Given the description of an element on the screen output the (x, y) to click on. 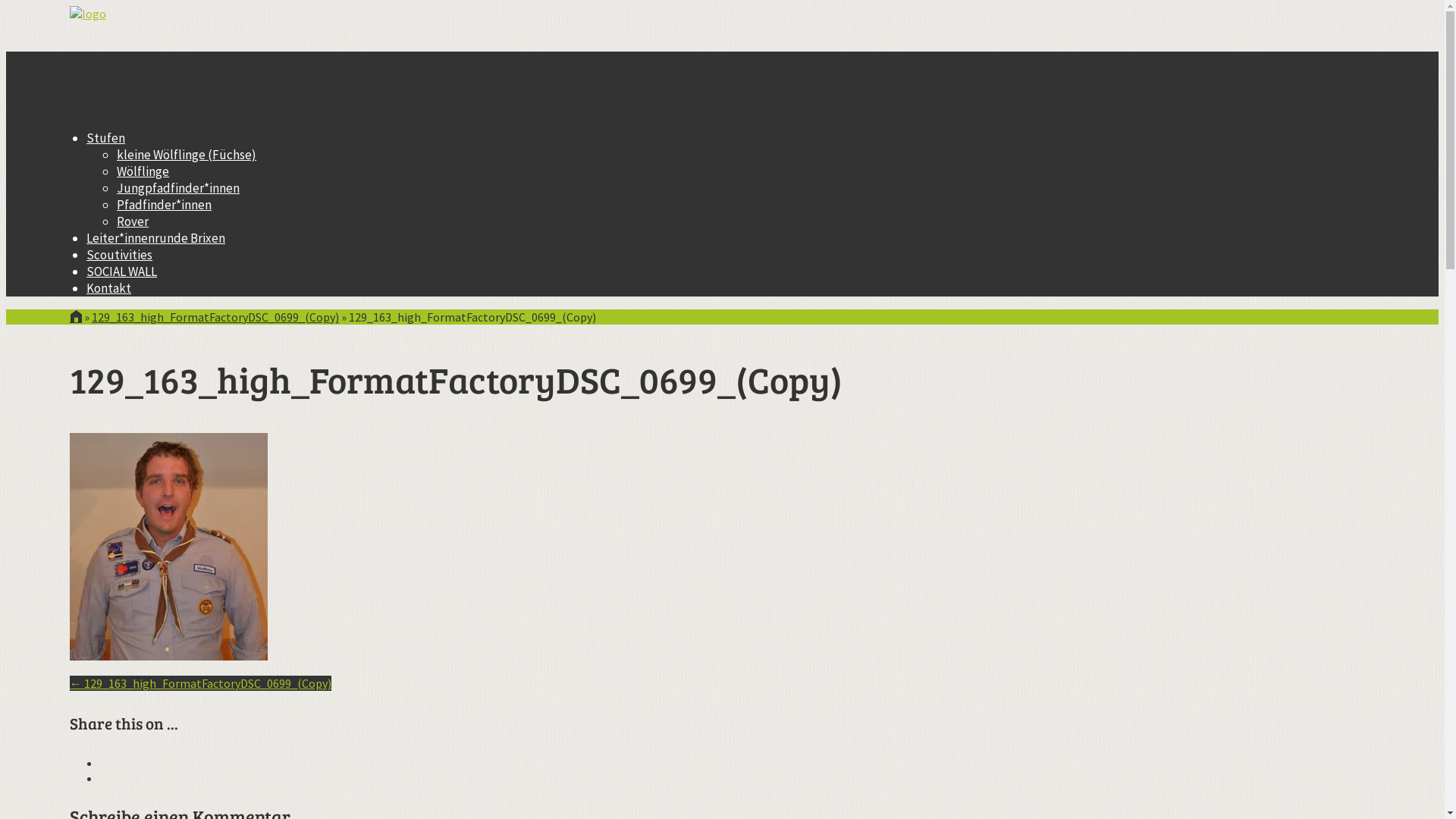
Pfadfinder*innen Element type: text (163, 204)
Kontakt Element type: text (108, 287)
Skip to content Element type: text (55, 128)
Stufen Element type: text (105, 137)
Jungpfadfinder*innen Element type: text (177, 187)
Rover Element type: text (132, 221)
129_163_high_FormatFactoryDSC_0699_(Copy) Element type: text (214, 316)
Scoutivities Element type: text (119, 254)
Leiter*innenrunde Brixen Element type: text (155, 237)
SOCIAL WALL Element type: text (121, 271)
